Given the description of an element on the screen output the (x, y) to click on. 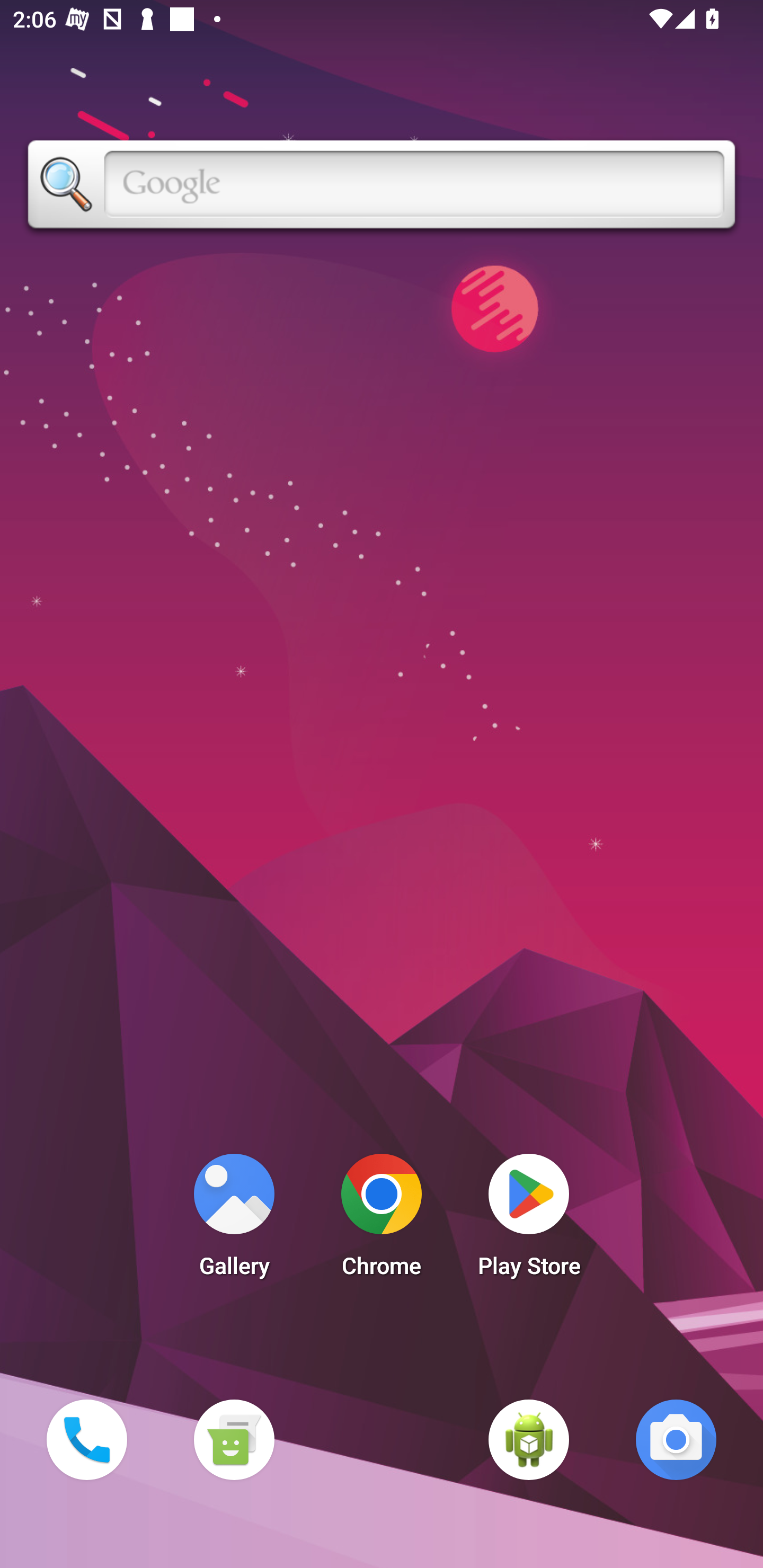
Gallery (233, 1220)
Chrome (381, 1220)
Play Store (528, 1220)
Phone (86, 1439)
Messaging (233, 1439)
WebView Browser Tester (528, 1439)
Camera (676, 1439)
